Given the description of an element on the screen output the (x, y) to click on. 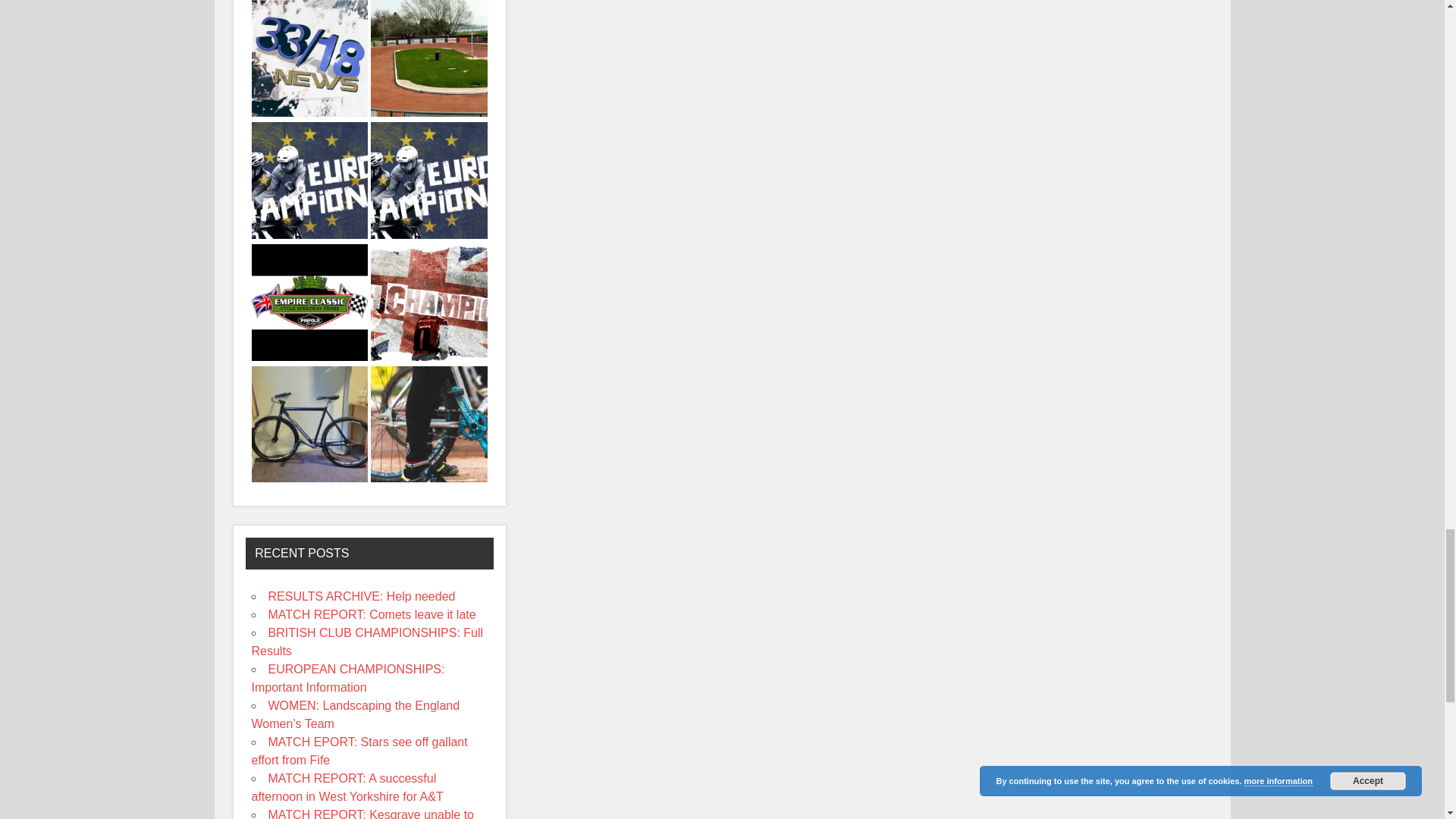
RESULTS ARCHIVE: Help needed (309, 59)
MATCH REPORT: Comets leave it late (429, 59)
